Given the description of an element on the screen output the (x, y) to click on. 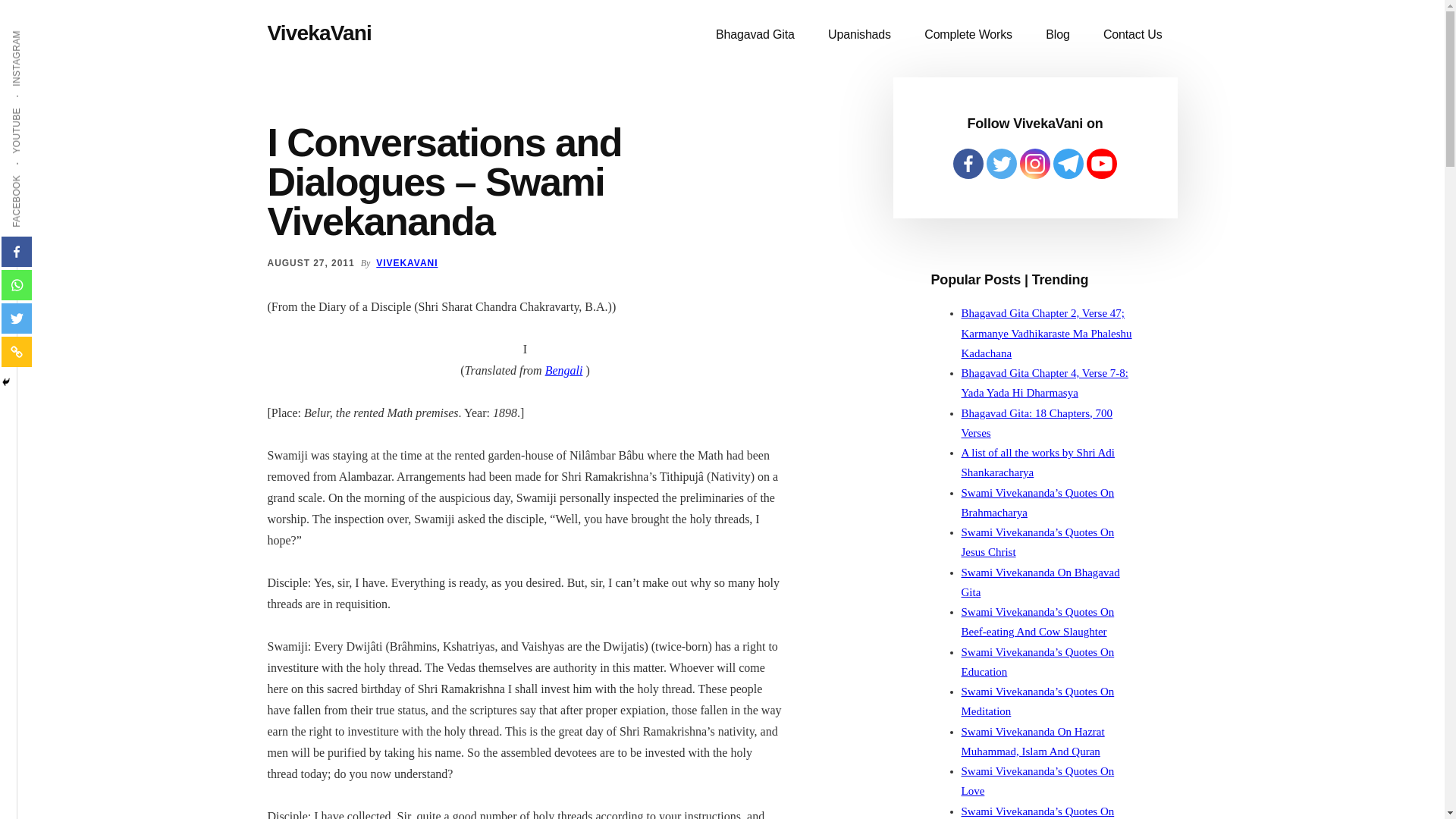
Blog (1057, 34)
Bhagavad Gita (754, 34)
Complete Works (967, 34)
Upanishads (858, 34)
YOUTUBE (41, 106)
Telegram (1067, 163)
INSTAGRAM (45, 28)
VivekaVani (318, 33)
Whatsapp (16, 285)
Twitter (1001, 163)
